Given the description of an element on the screen output the (x, y) to click on. 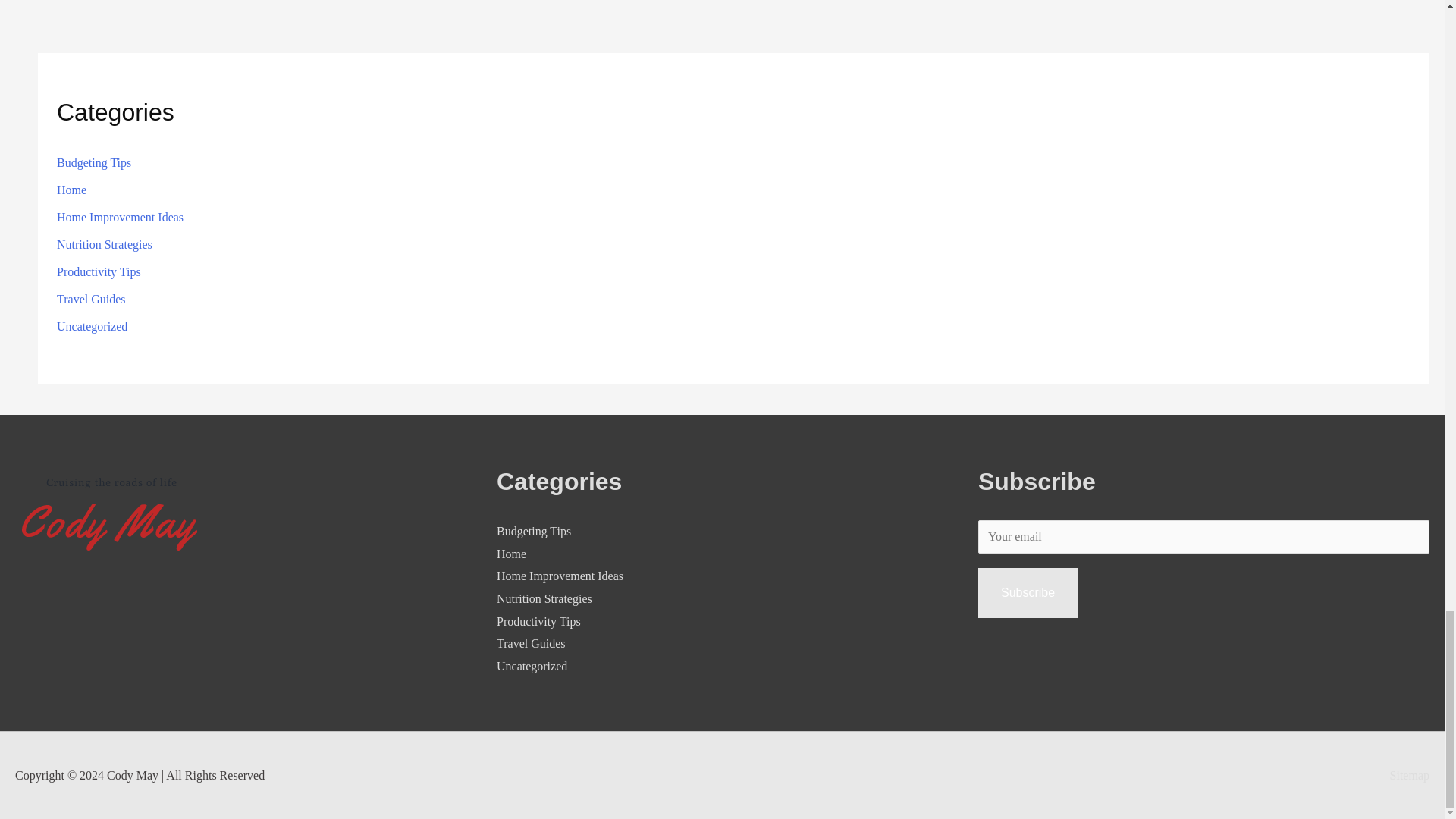
Home Improvement Ideas (559, 575)
Productivity Tips (538, 621)
Home (510, 553)
Travel Guides (90, 298)
Home Improvement Ideas (119, 216)
Travel Guides (531, 643)
Subscribe (1027, 593)
Nutrition Strategies (544, 598)
Budgeting Tips (93, 162)
Subscribe (1027, 593)
